Given the description of an element on the screen output the (x, y) to click on. 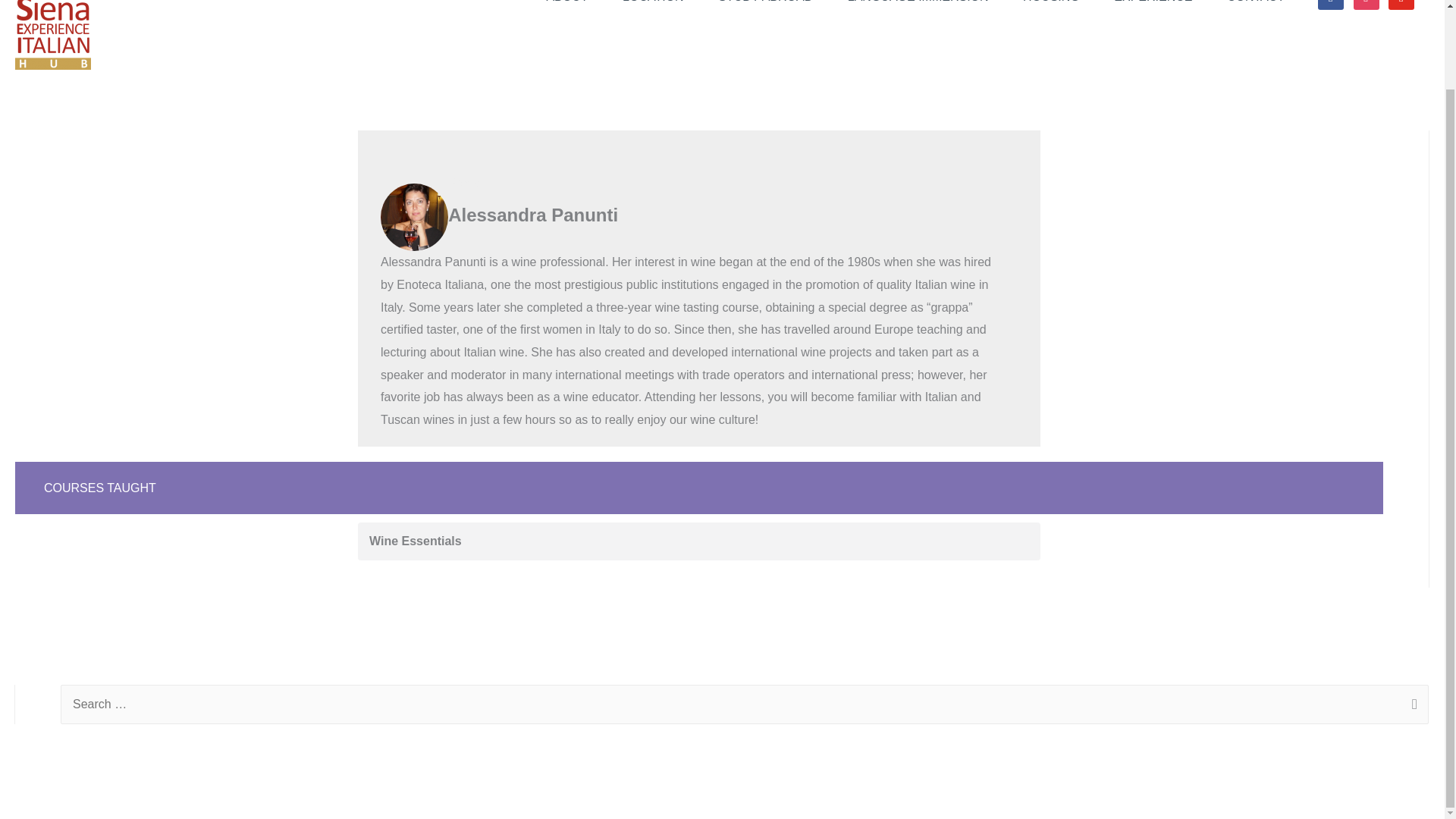
LOCATION (658, 10)
HOUSING (1056, 10)
Default Label (1401, 4)
ABOUT (572, 10)
EXPERIENCE (1158, 10)
LANGUAGE IMMERSION (922, 10)
instagram (1366, 4)
STUDY ABROAD (770, 10)
youtube (1401, 4)
CONTACT (1255, 10)
facebook (1330, 4)
